Given the description of an element on the screen output the (x, y) to click on. 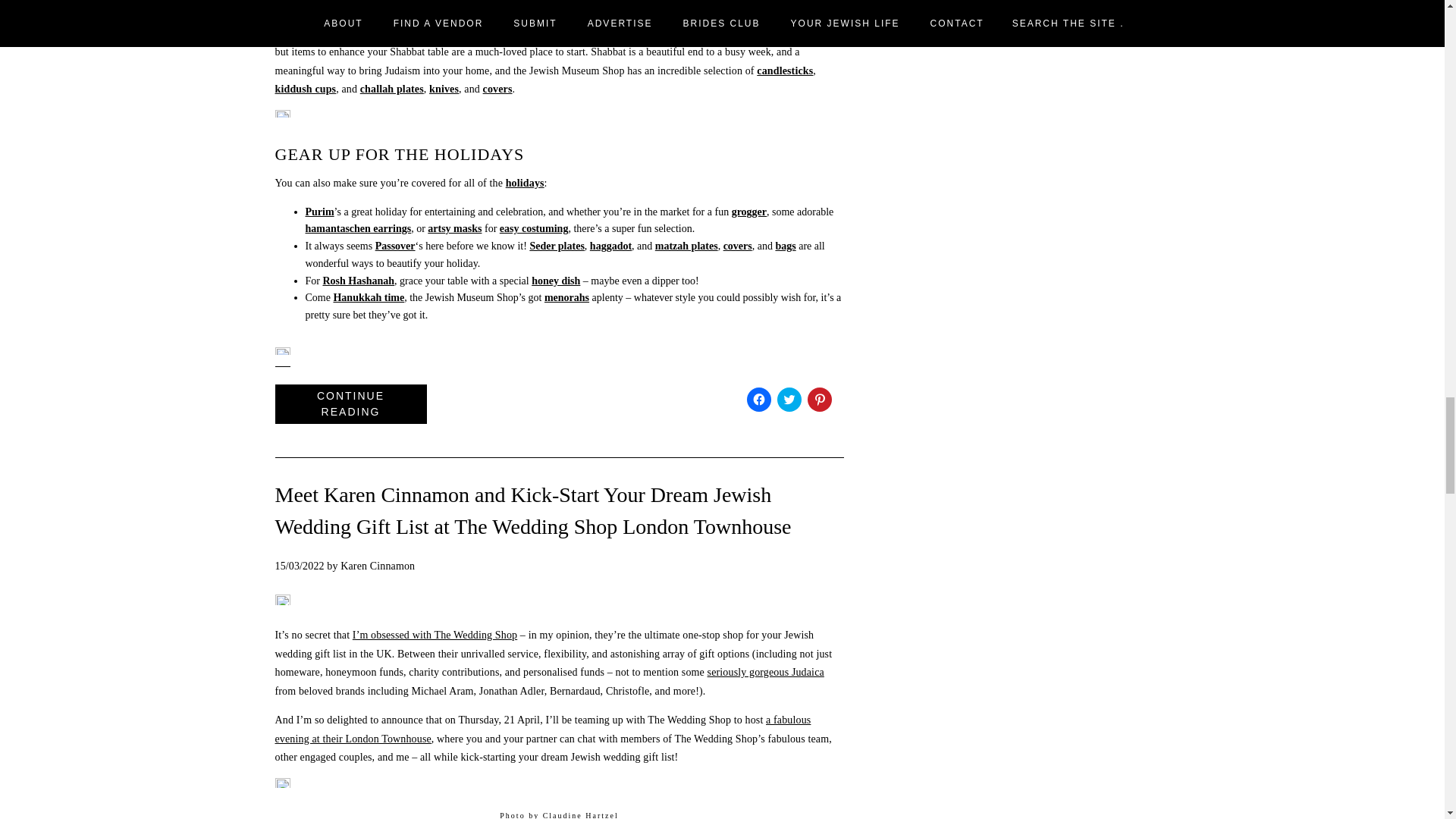
Click to share on Pinterest (818, 399)
Click to share on Twitter (788, 399)
Click to share on Facebook (757, 399)
